Given the description of an element on the screen output the (x, y) to click on. 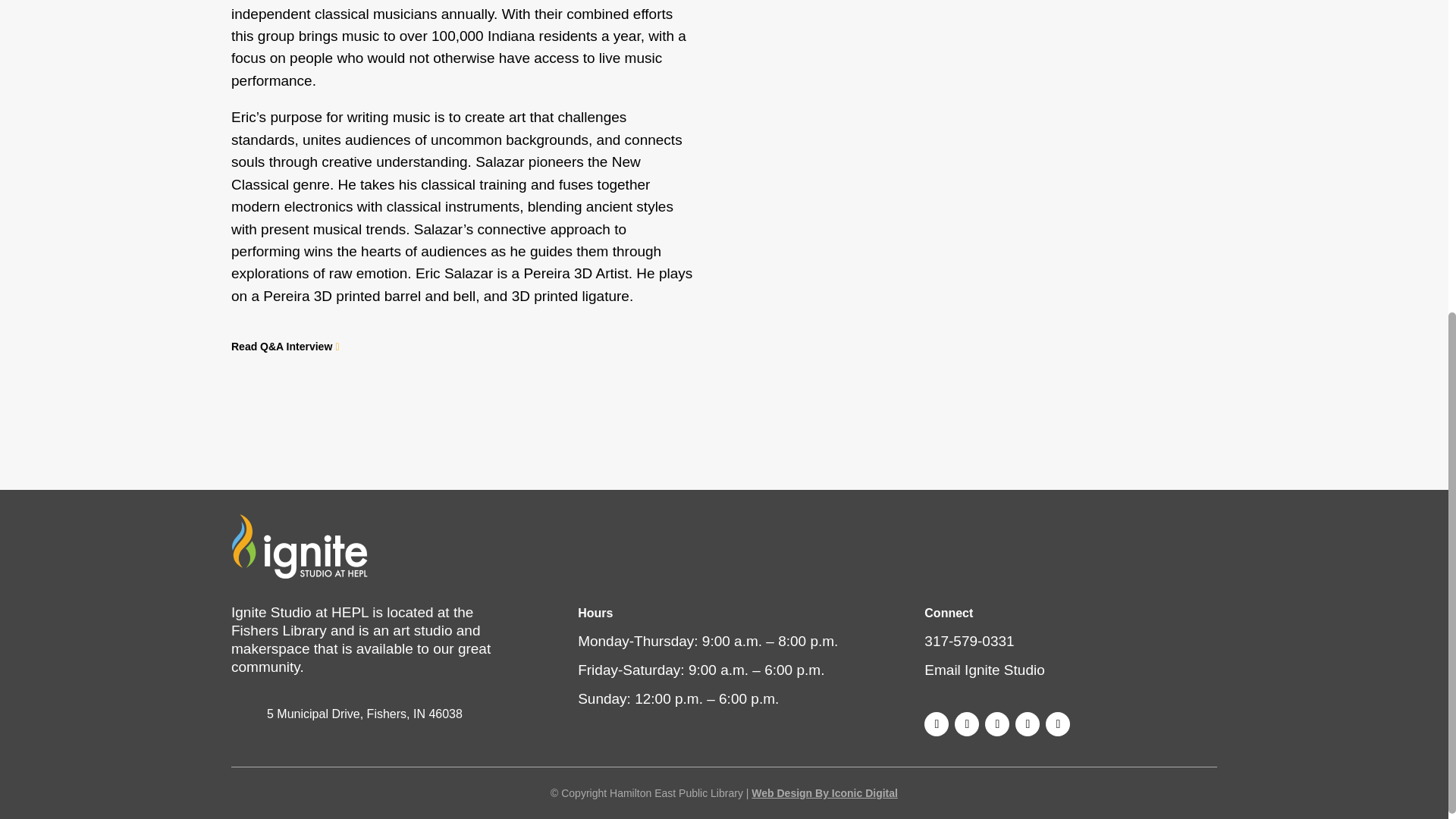
Follow on Facebook (936, 723)
Follow on LinkedIn (1057, 723)
Follow on Youtube (1026, 723)
Follow on X (997, 723)
Email Ignite Studio (983, 669)
317-579-0331 (968, 641)
Web Design By Iconic Digital (824, 793)
Follow on Instagram (966, 723)
Ignite Color Reverse (299, 546)
